Given the description of an element on the screen output the (x, y) to click on. 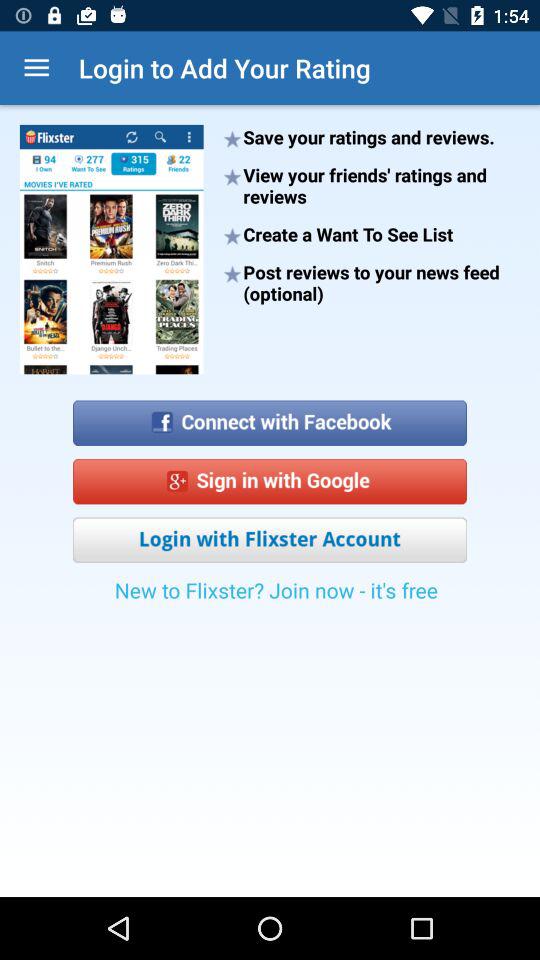
choose the icon to the left of the login to add icon (36, 68)
